Given the description of an element on the screen output the (x, y) to click on. 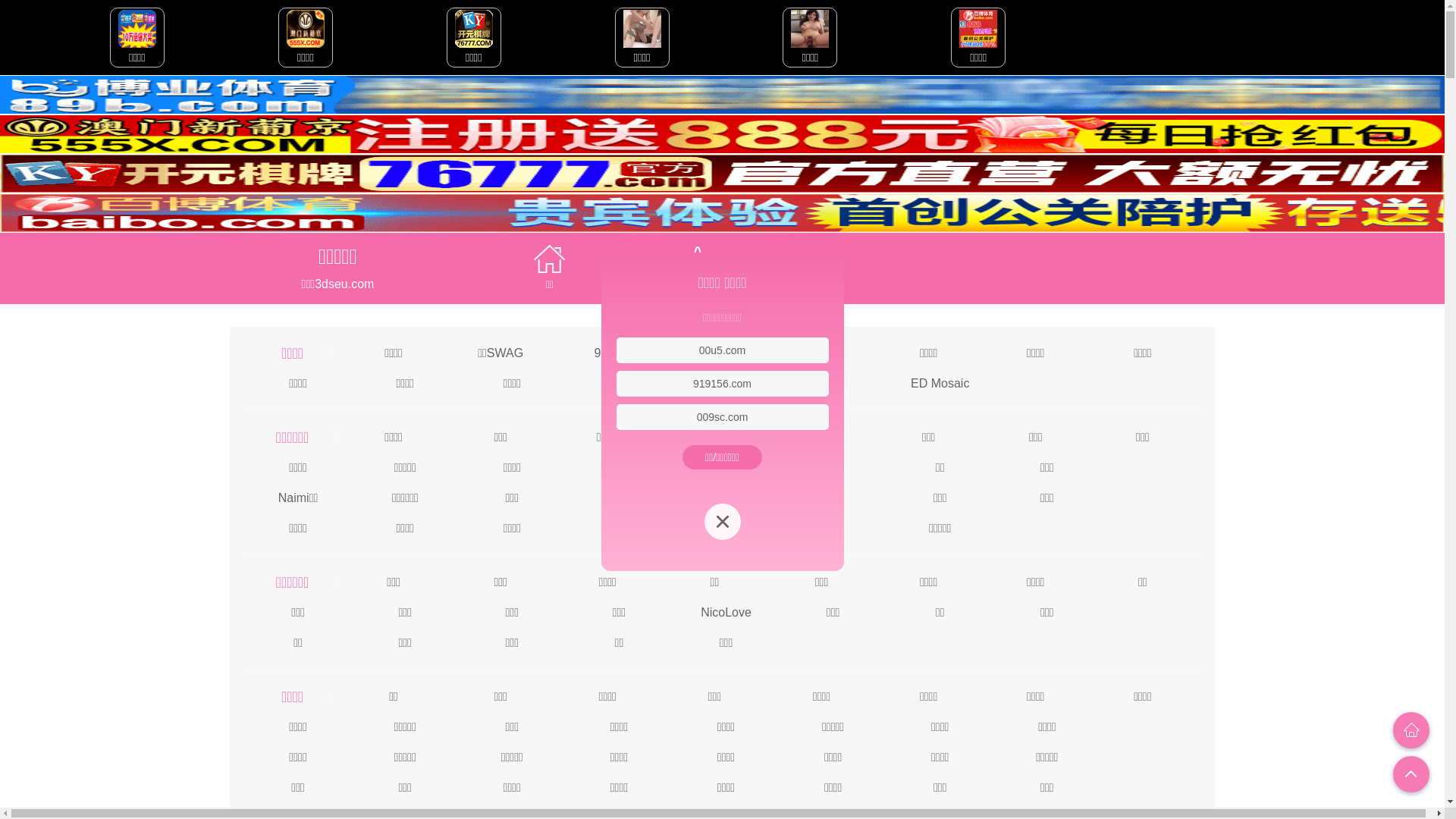
NicoLove Element type: text (725, 611)
JVID Element type: text (821, 351)
009sc.com Element type: text (722, 417)
ED Mosaic Element type: text (939, 382)
00u5.com Element type: text (722, 350)
919156.com Element type: text (722, 383)
